Given the description of an element on the screen output the (x, y) to click on. 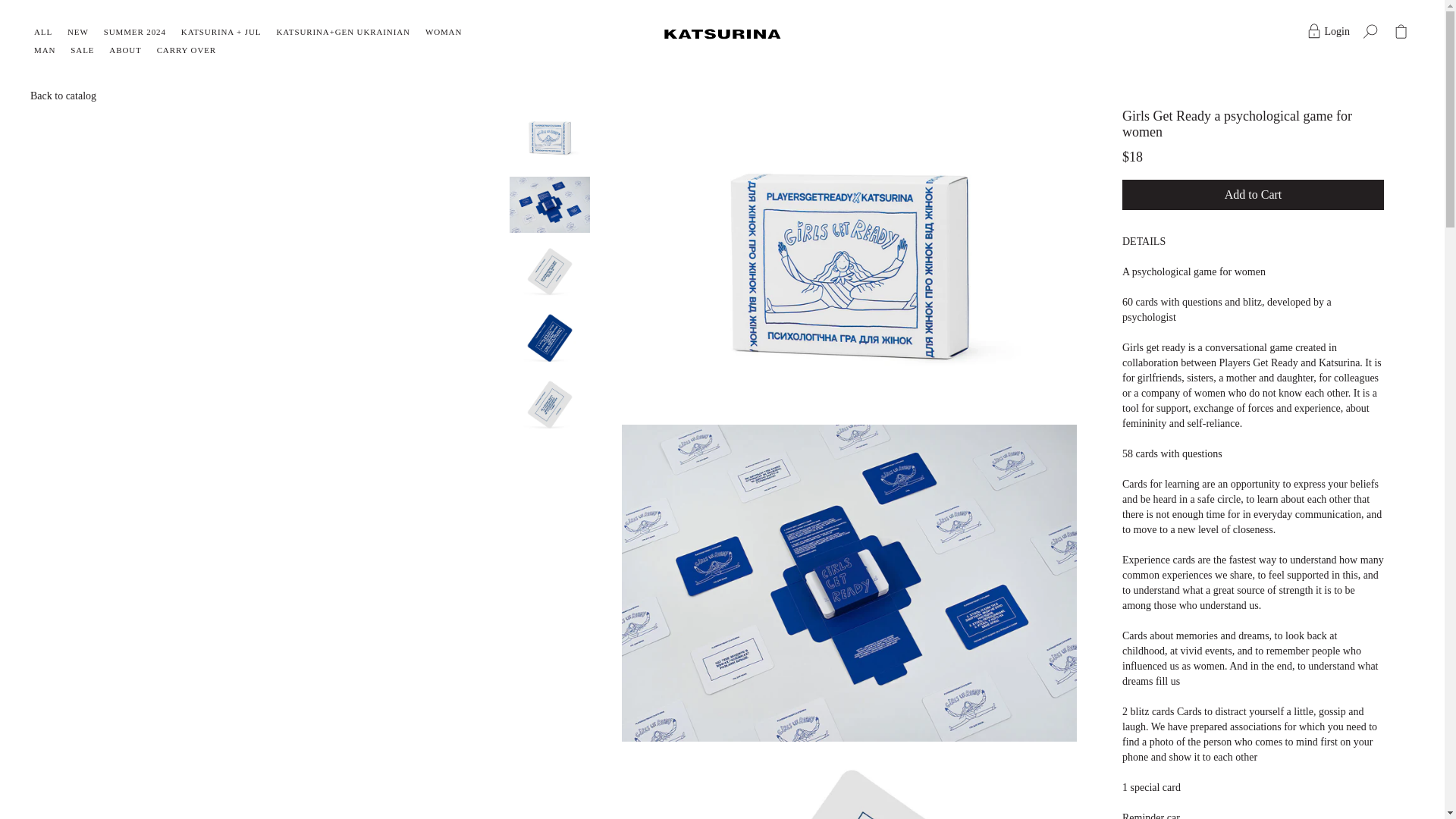
CARRY OVER (186, 49)
WOMAN (443, 31)
SUMMER 2024 (134, 31)
ALL (42, 31)
Login (1326, 31)
ABOUT (125, 49)
SALE (81, 49)
NEW (77, 31)
MAN (44, 49)
